Given the description of an element on the screen output the (x, y) to click on. 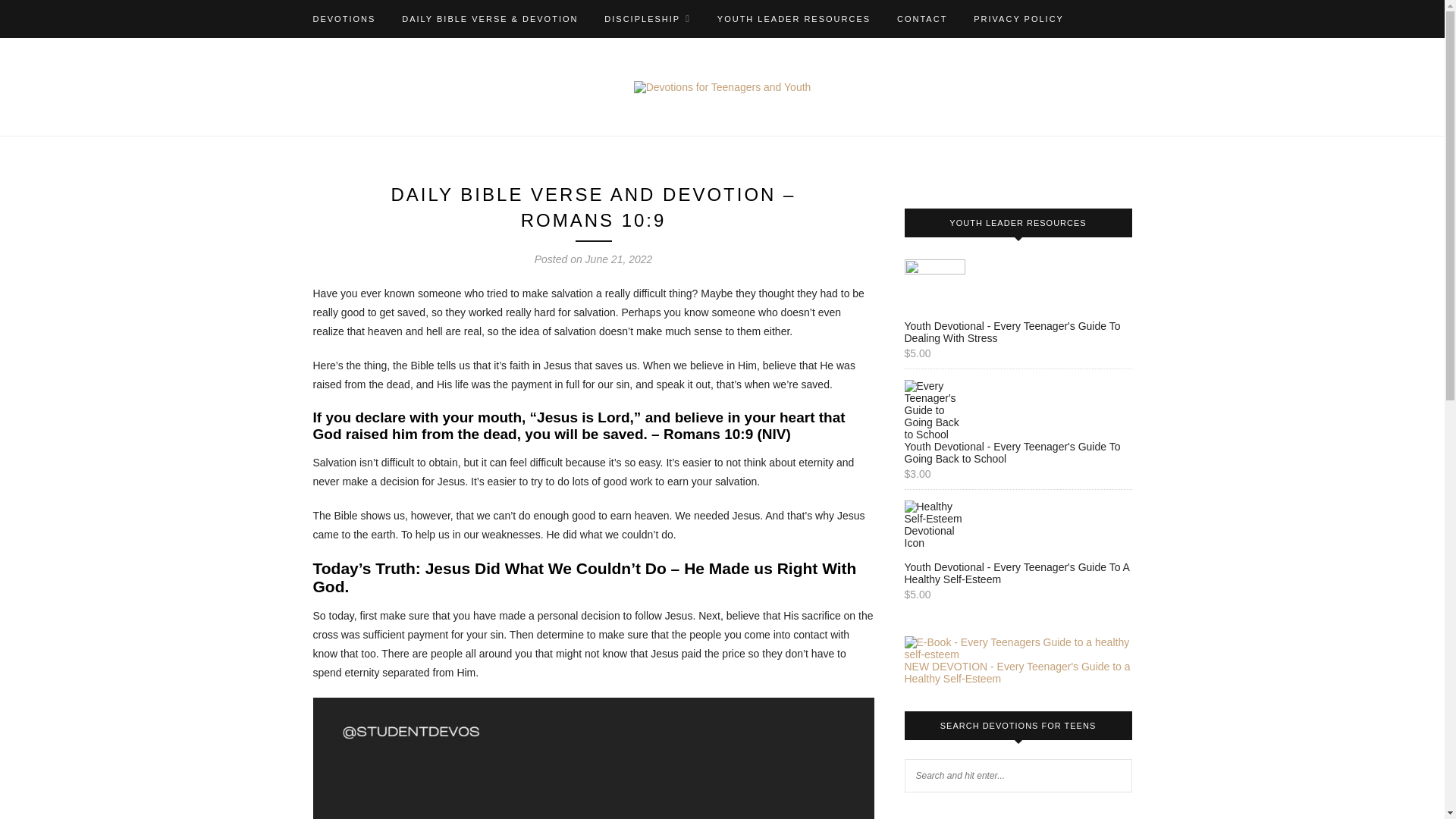
CONTACT (921, 18)
DISCIPLESHIP (647, 18)
DEVOTIONS (344, 18)
PRIVACY POLICY (1019, 18)
YOUTH LEADER RESOURCES (793, 18)
Contact Student Devos (921, 18)
Discipleship For Youth and Teens (647, 18)
Devotions for Teens (344, 18)
